Given the description of an element on the screen output the (x, y) to click on. 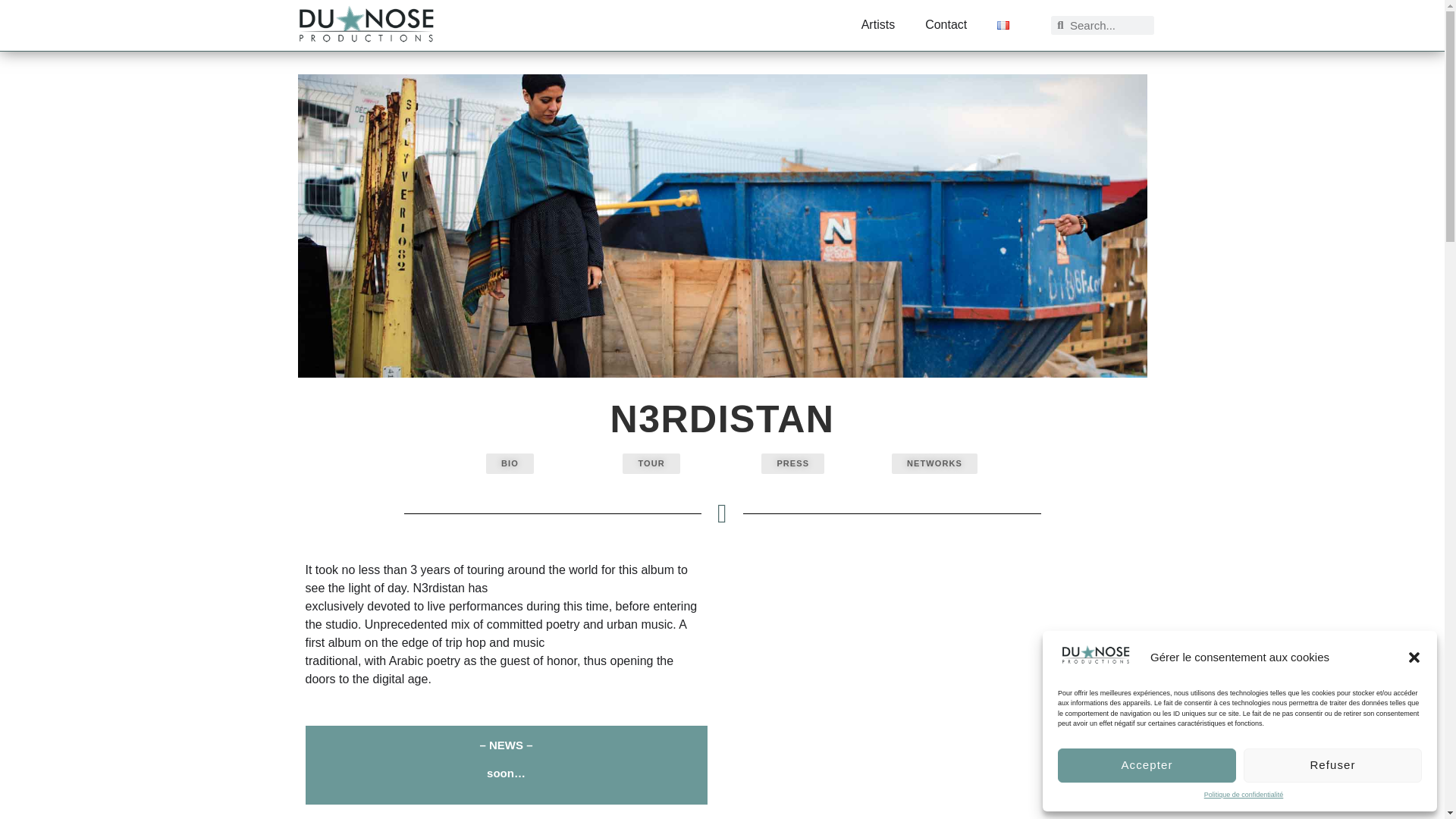
Accepter (1147, 764)
Artists (877, 22)
Contact (945, 23)
Refuser (1332, 764)
